Given the description of an element on the screen output the (x, y) to click on. 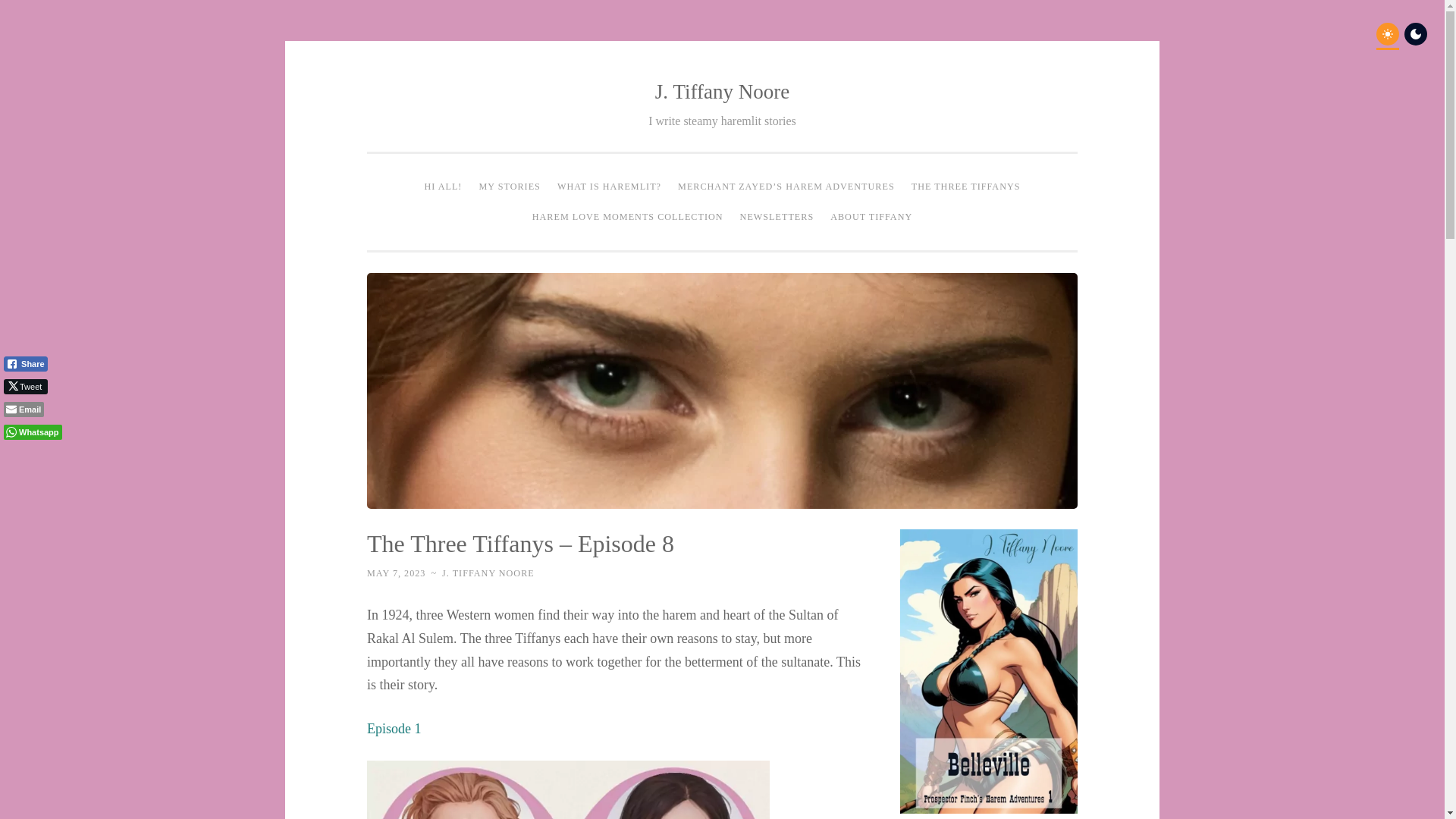
HAREM LOVE MOMENTS COLLECTION (627, 216)
J. Tiffany Noore (722, 91)
MAY 7, 2023 (395, 573)
WHAT IS HAREMLIT? (609, 186)
THE THREE TIFFANYS (965, 186)
HI ALL! (442, 186)
ABOUT TIFFANY (871, 216)
J. TIFFANY NOORE (488, 573)
MY STORIES (509, 186)
